Given the description of an element on the screen output the (x, y) to click on. 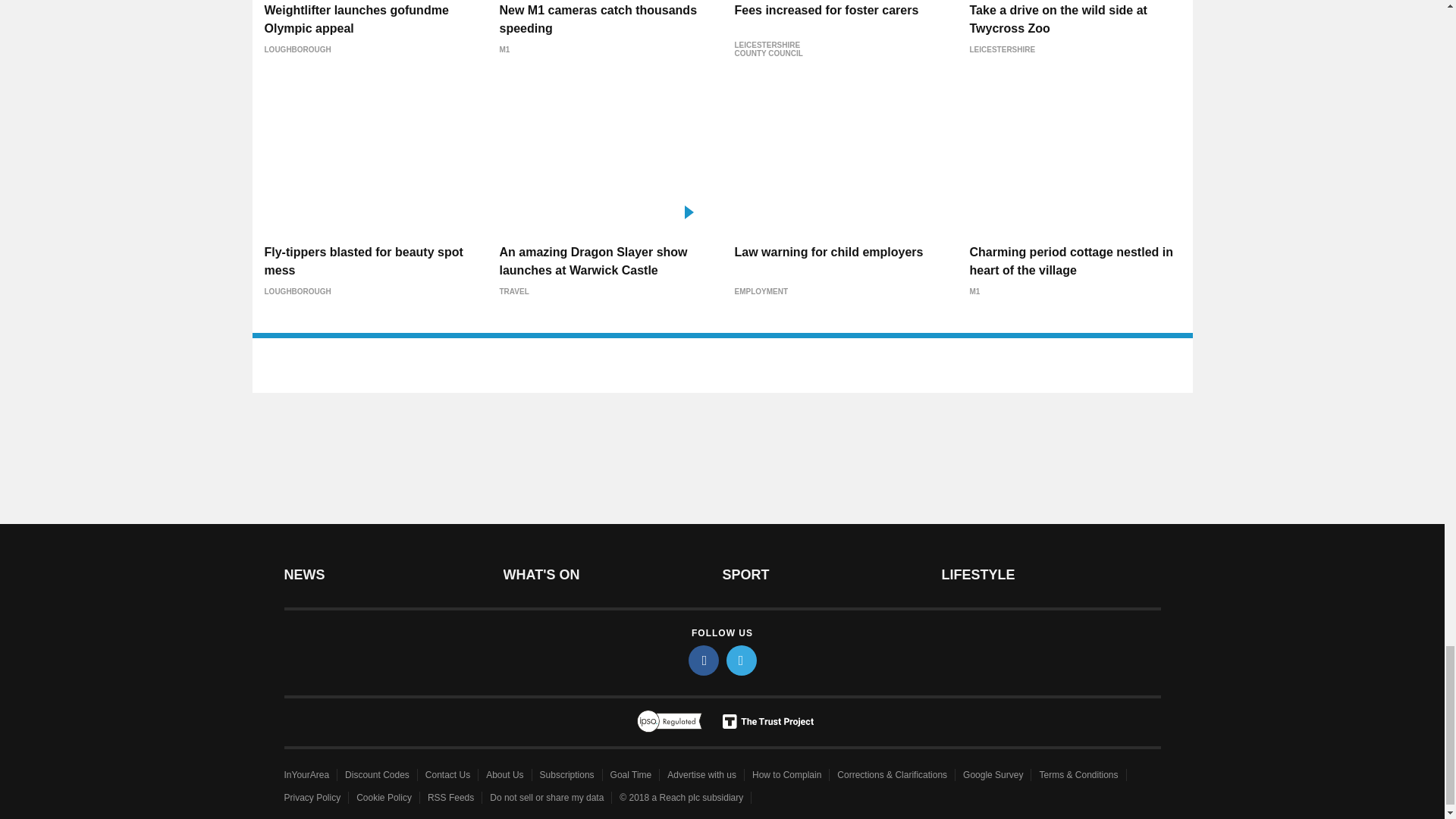
facebook (703, 660)
twitter (741, 660)
